Given the description of an element on the screen output the (x, y) to click on. 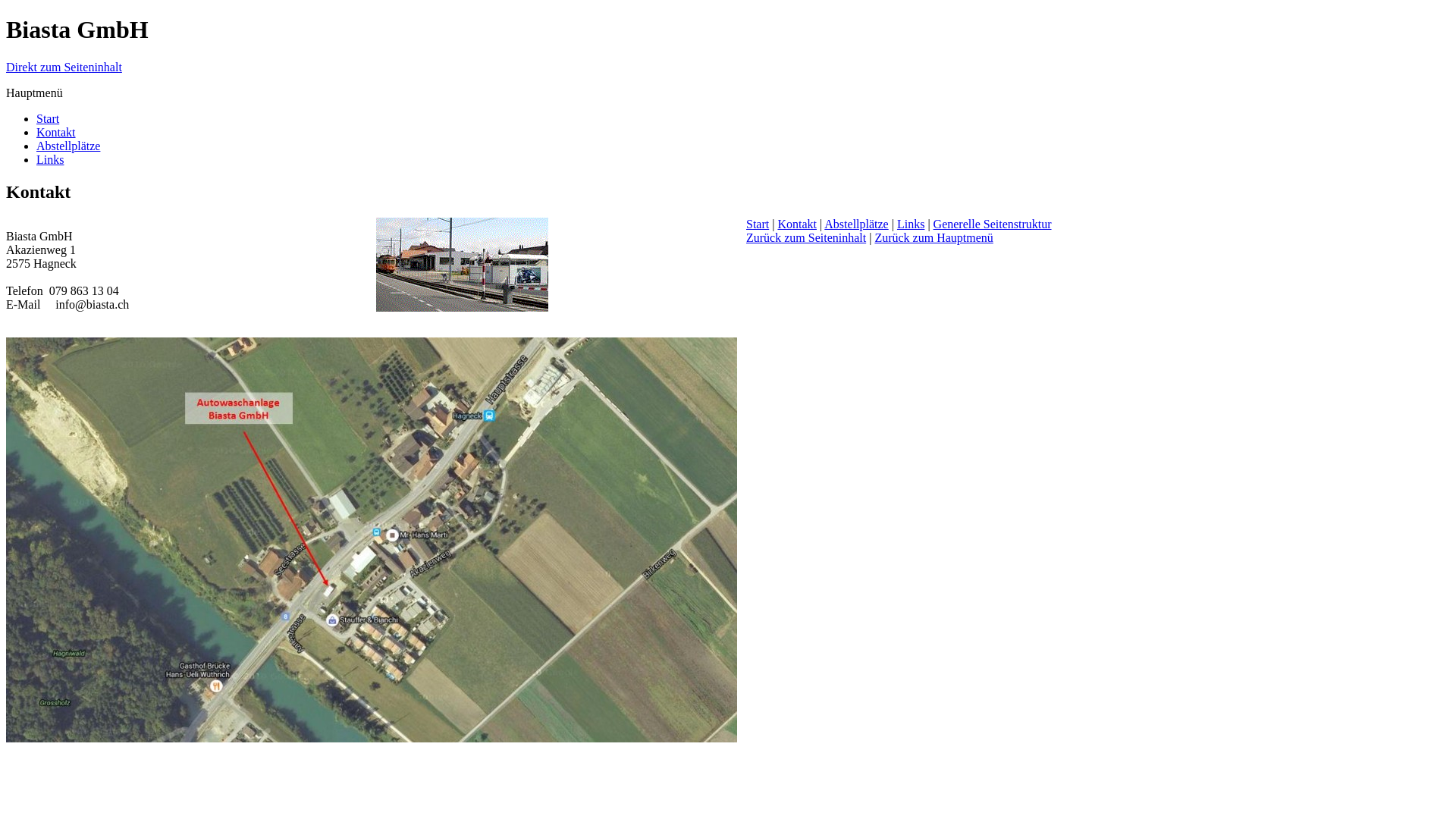
Start Element type: text (47, 118)
Links Element type: text (49, 159)
Direkt zum Seiteninhalt Element type: text (64, 66)
Links Element type: text (910, 223)
Start Element type: text (757, 223)
Kontakt Element type: text (55, 131)
Kontakt Element type: text (796, 223)
Generelle Seitenstruktur Element type: text (992, 223)
